Given the description of an element on the screen output the (x, y) to click on. 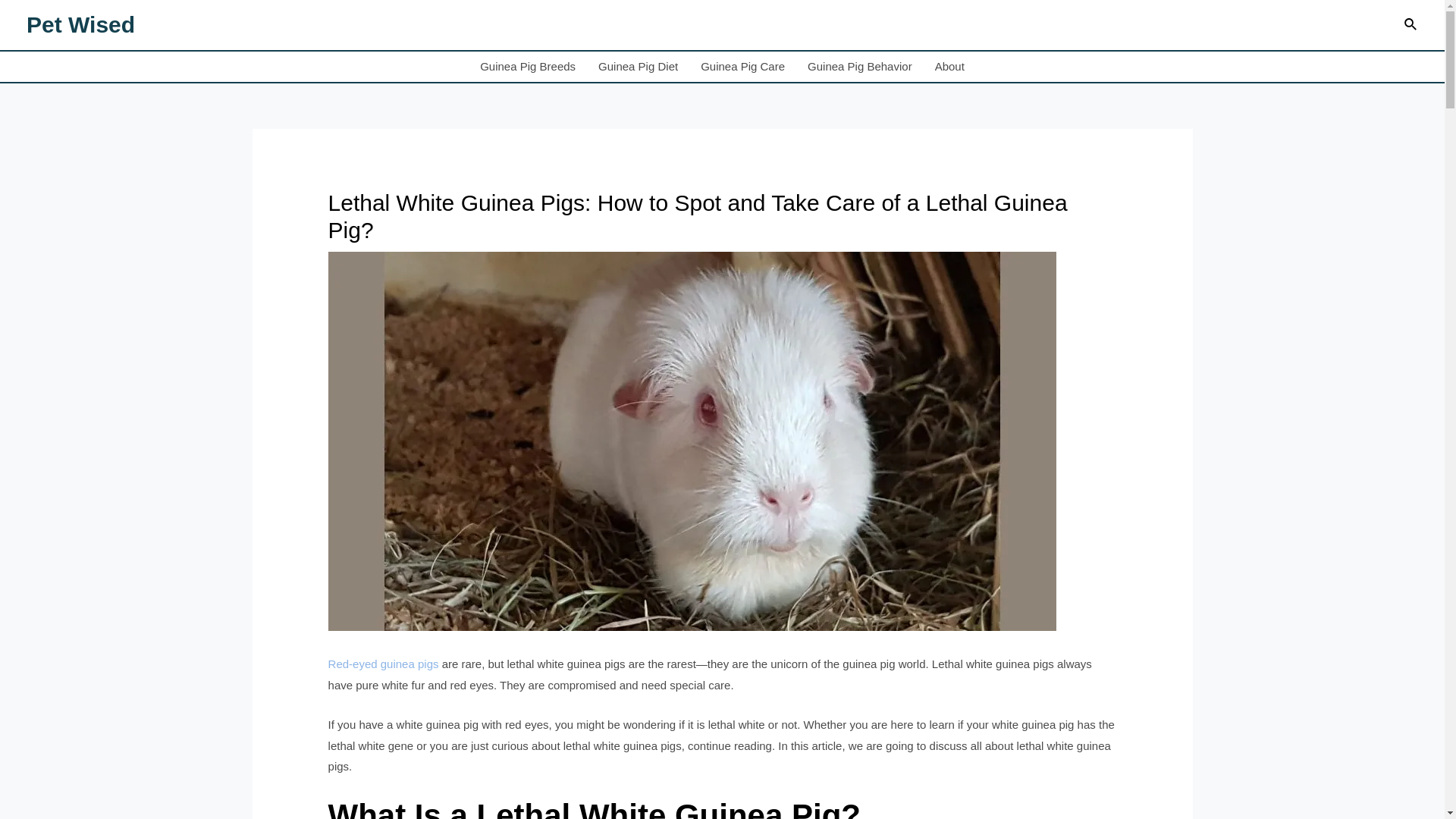
Guinea Pig Breeds (527, 66)
Guinea Pig Care (742, 66)
Guinea Pig Diet (637, 66)
Red-eyed guinea pigs (384, 663)
About (949, 66)
Guinea Pig Behavior (859, 66)
Pet Wised (80, 24)
